Given the description of an element on the screen output the (x, y) to click on. 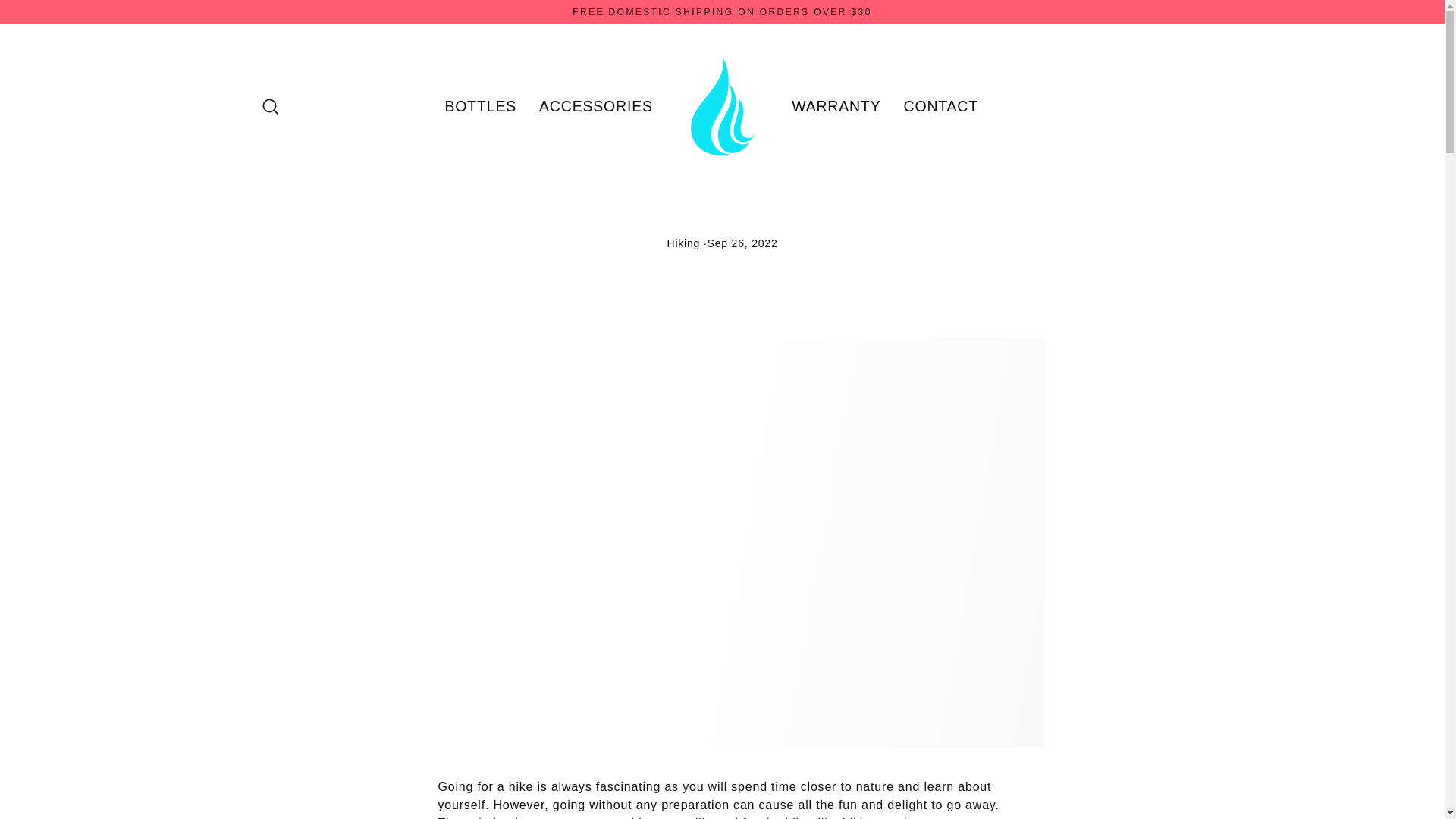
ACCESSORIES (595, 106)
BOTTLES (480, 106)
CONTACT (941, 106)
Hiking (683, 243)
Search (269, 106)
WARRANTY (835, 106)
